Given the description of an element on the screen output the (x, y) to click on. 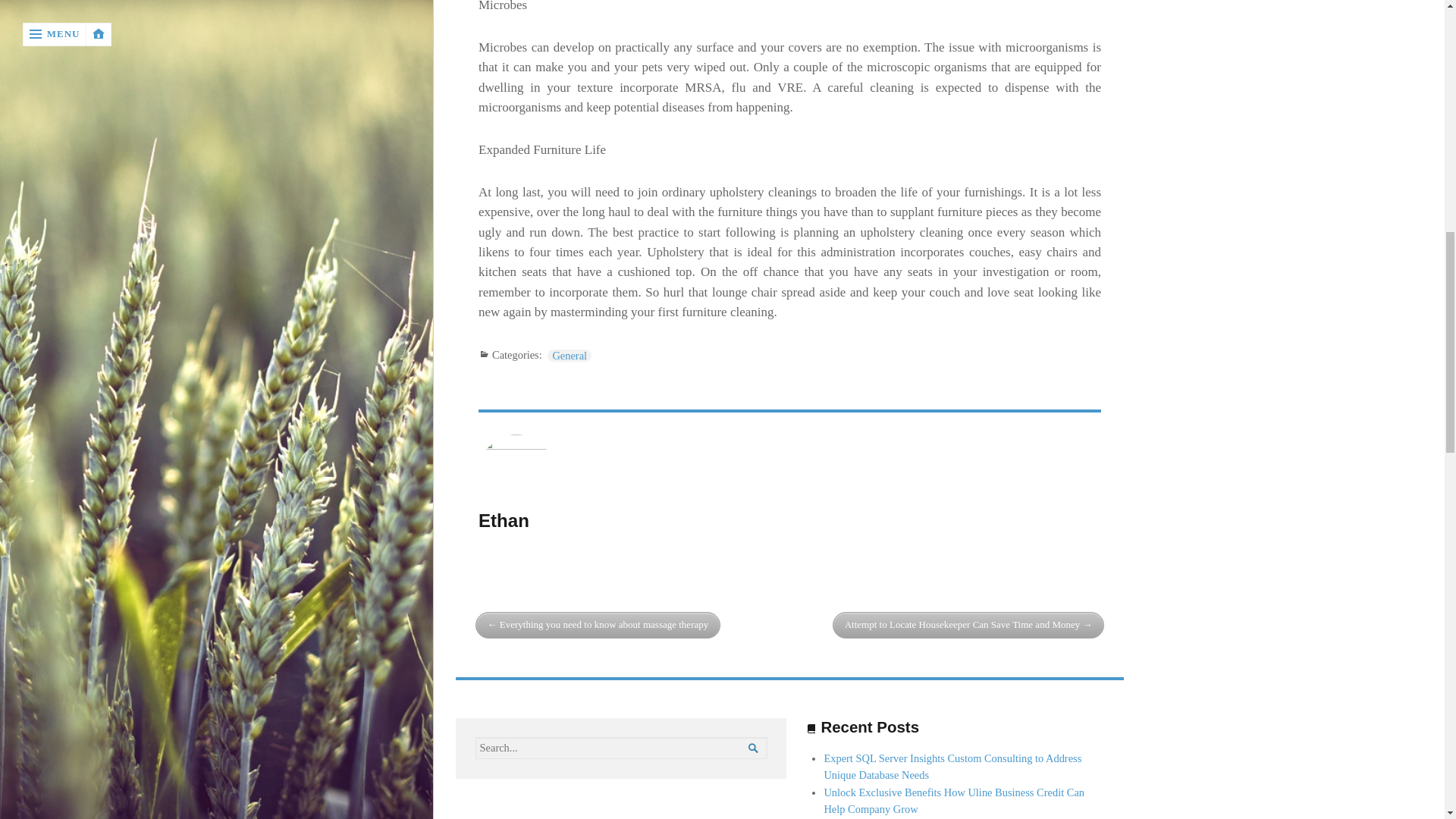
General (569, 355)
Everything you need to know about massage therapy (598, 624)
Attempt to Locate Housekeeper Can Save Time and Money (968, 624)
